Given the description of an element on the screen output the (x, y) to click on. 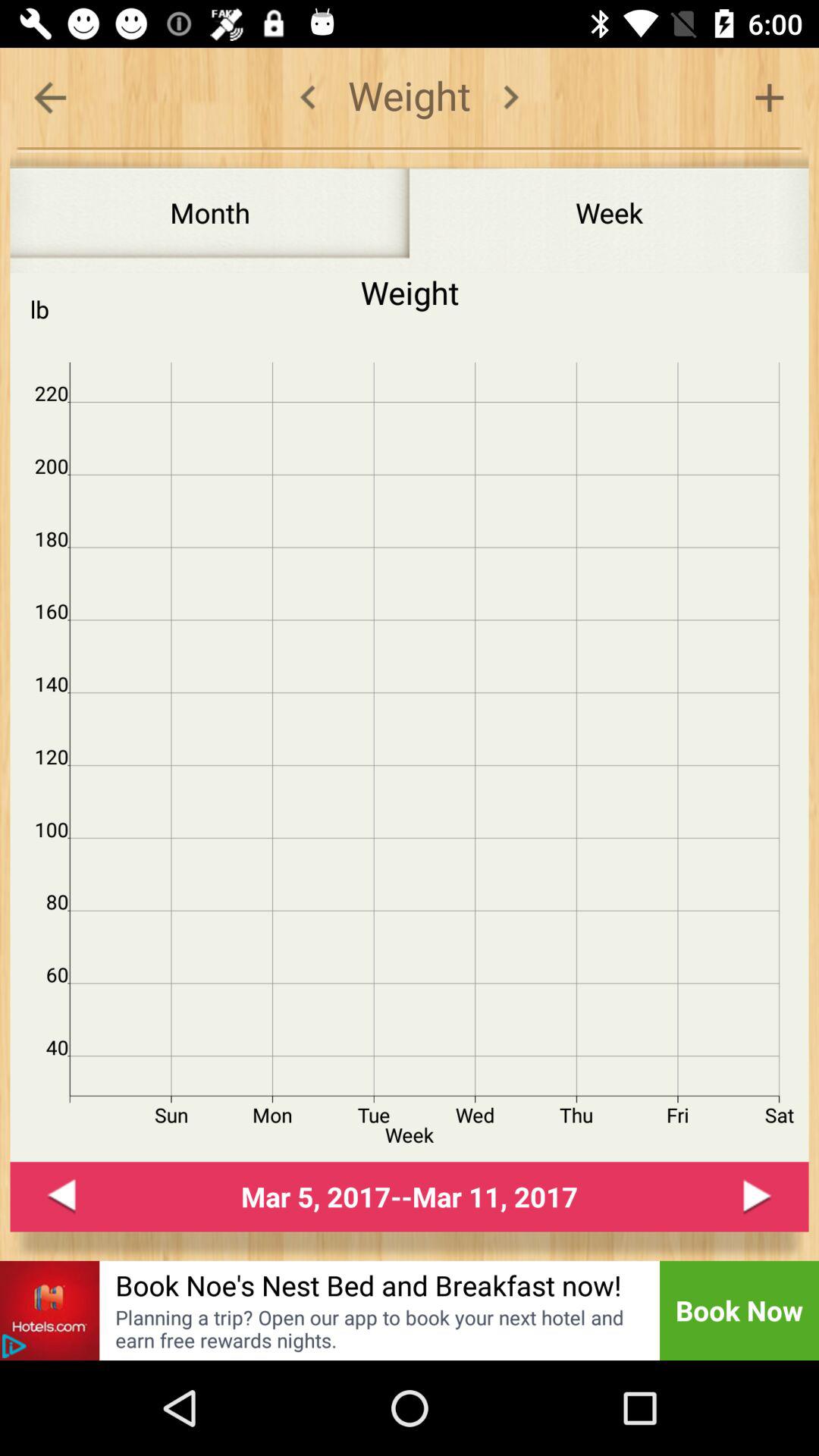
choose another option (769, 97)
